Given the description of an element on the screen output the (x, y) to click on. 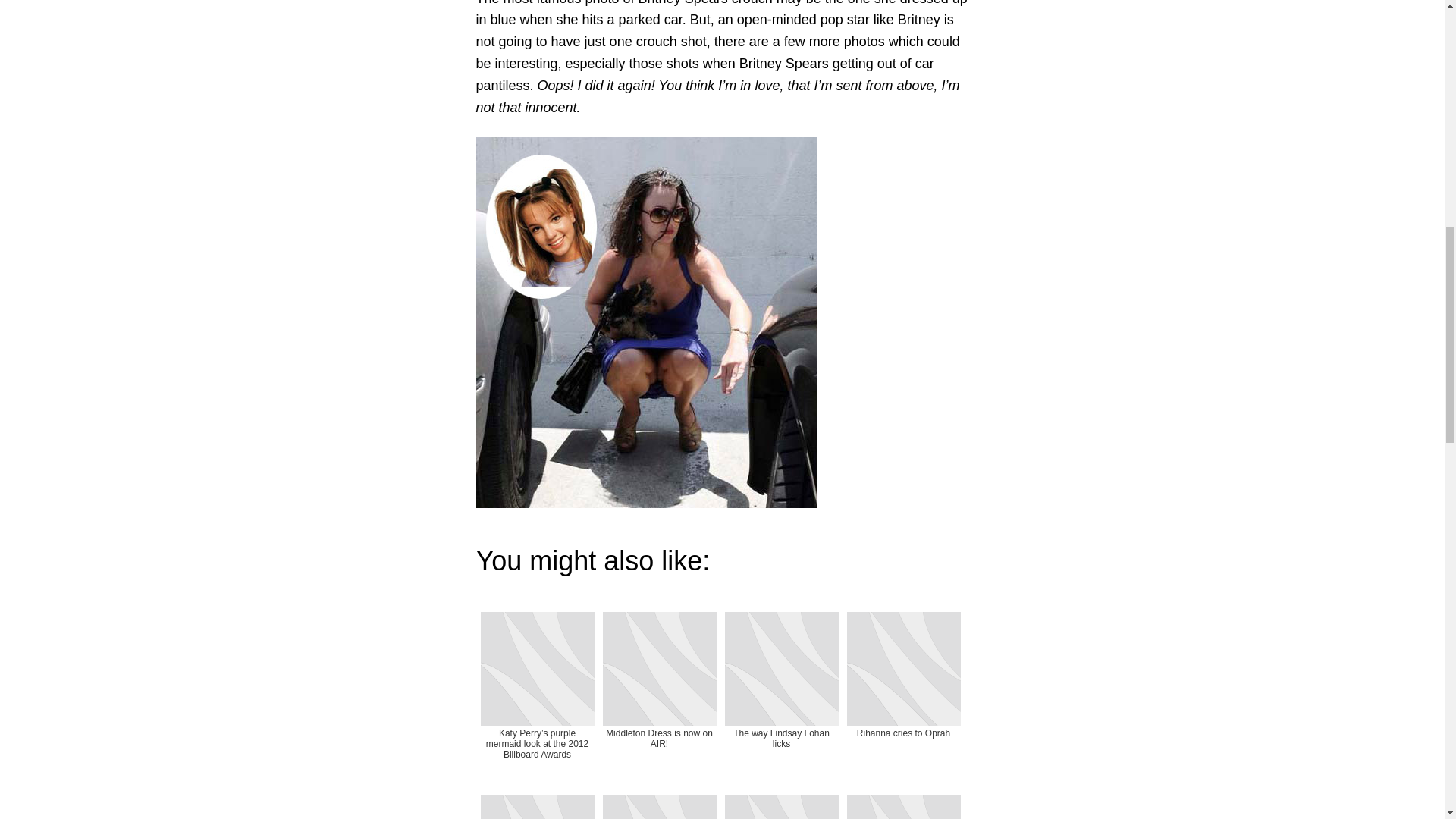
britney-spears-crotch-shot (646, 321)
Ten great Jennifer Aniston hairstyles (658, 805)
Is She Emma Watson or Just Her Doppelganger? (781, 805)
